Given the description of an element on the screen output the (x, y) to click on. 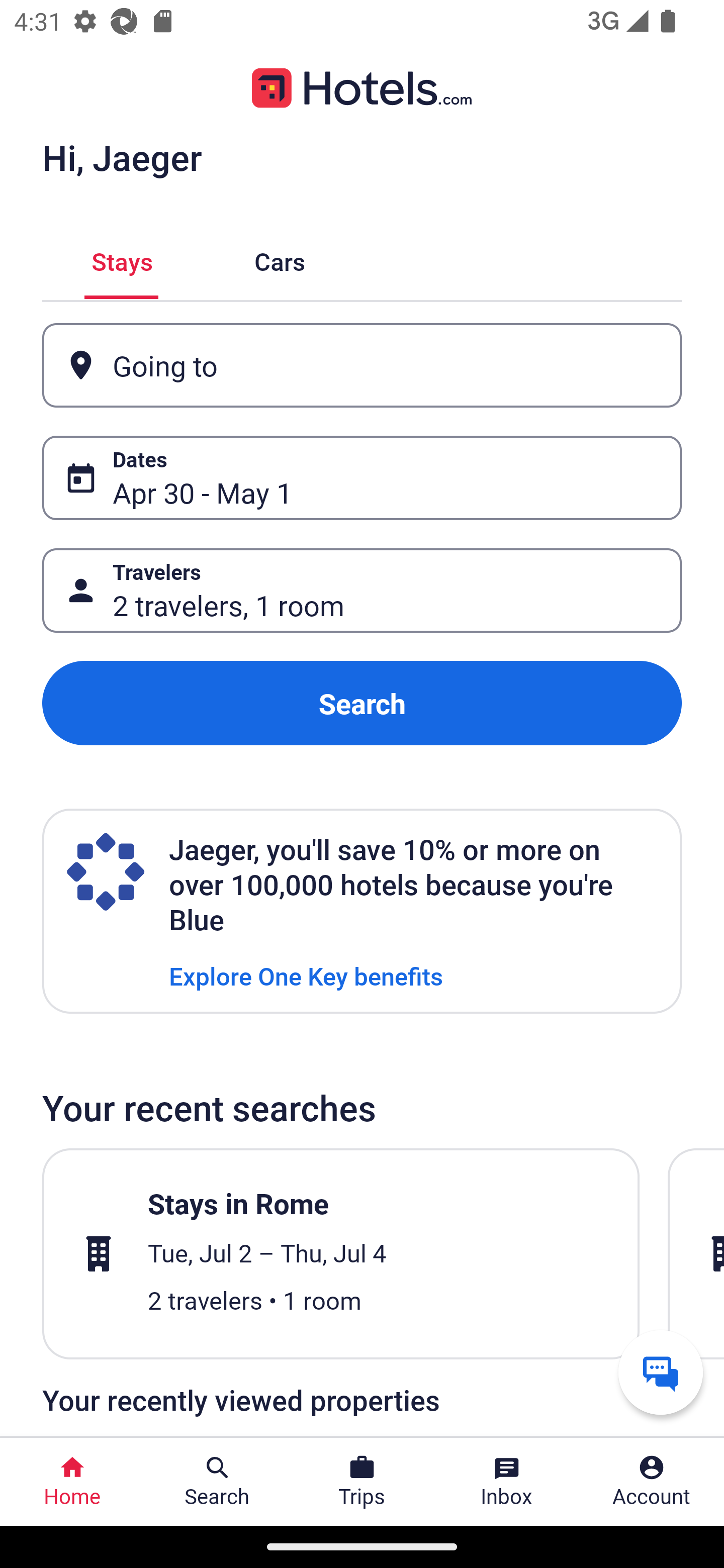
Hi, Jaeger (121, 156)
Cars (279, 259)
Going to Button (361, 365)
Dates Button Apr 30 - May 1 (361, 477)
Travelers Button 2 travelers, 1 room (361, 590)
Search (361, 702)
Get help from a virtual agent (660, 1371)
Search Search Button (216, 1481)
Trips Trips Button (361, 1481)
Inbox Inbox Button (506, 1481)
Account Profile. Button (651, 1481)
